Given the description of an element on the screen output the (x, y) to click on. 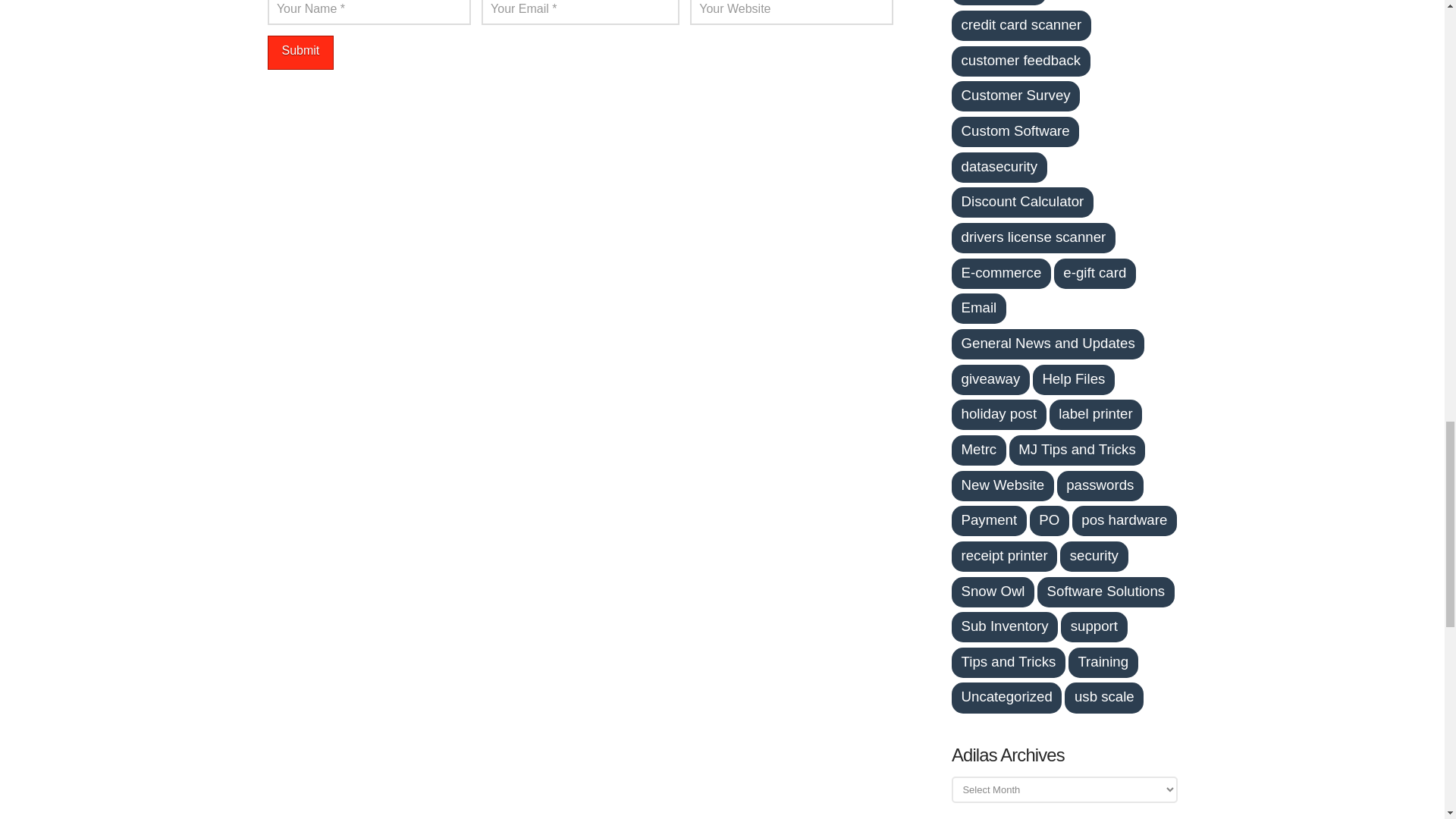
Submit (299, 52)
Submit (299, 52)
